Given the description of an element on the screen output the (x, y) to click on. 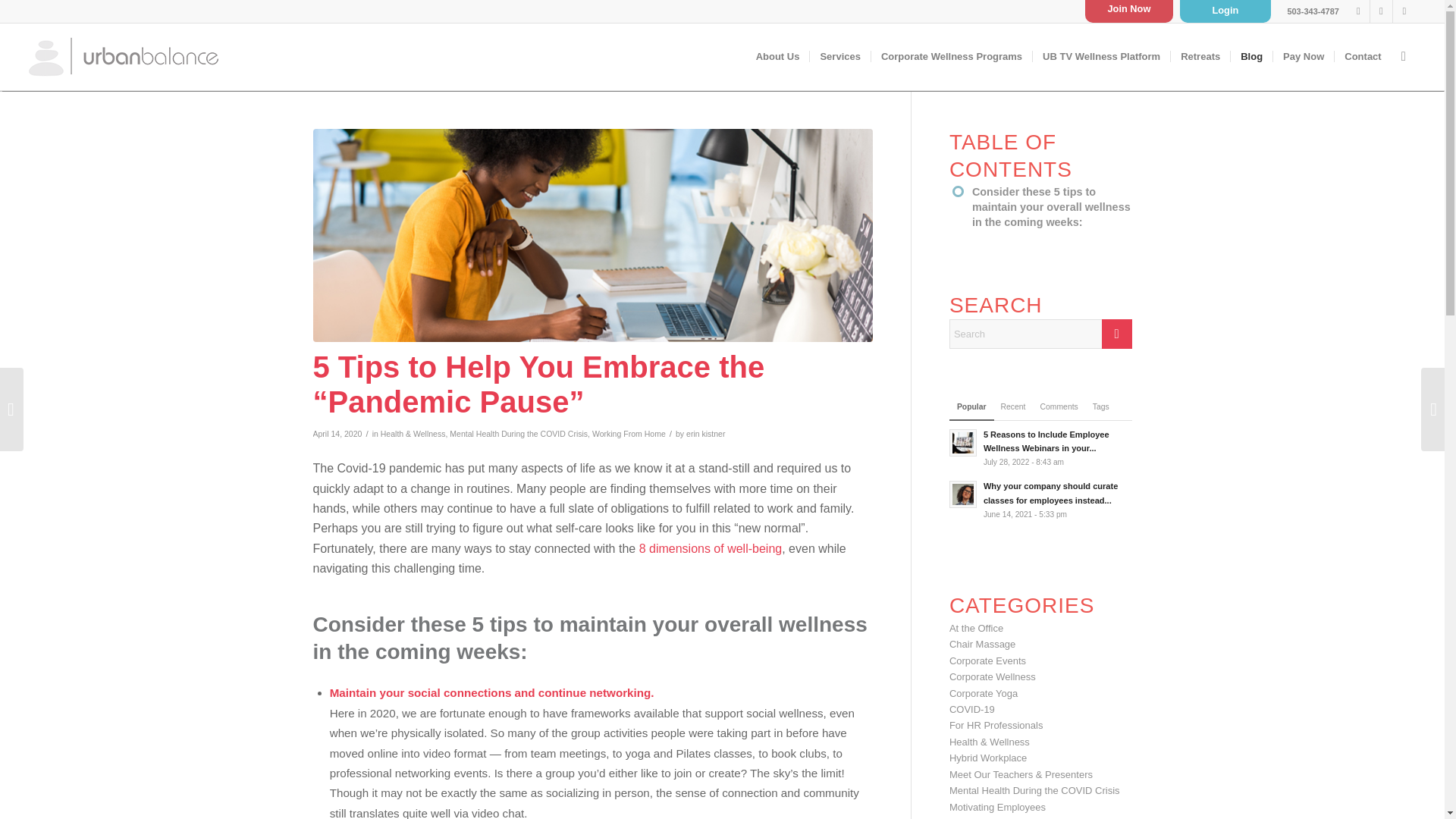
Facebook (1359, 11)
Join Now (1128, 11)
Instagram (1380, 11)
Retreats (1200, 56)
LinkedIn (1404, 11)
UB TV Wellness Platform (1101, 56)
503-343-4787 (1313, 11)
Corporate Wellness Programs (951, 56)
Services (839, 56)
About Us (777, 56)
